Given the description of an element on the screen output the (x, y) to click on. 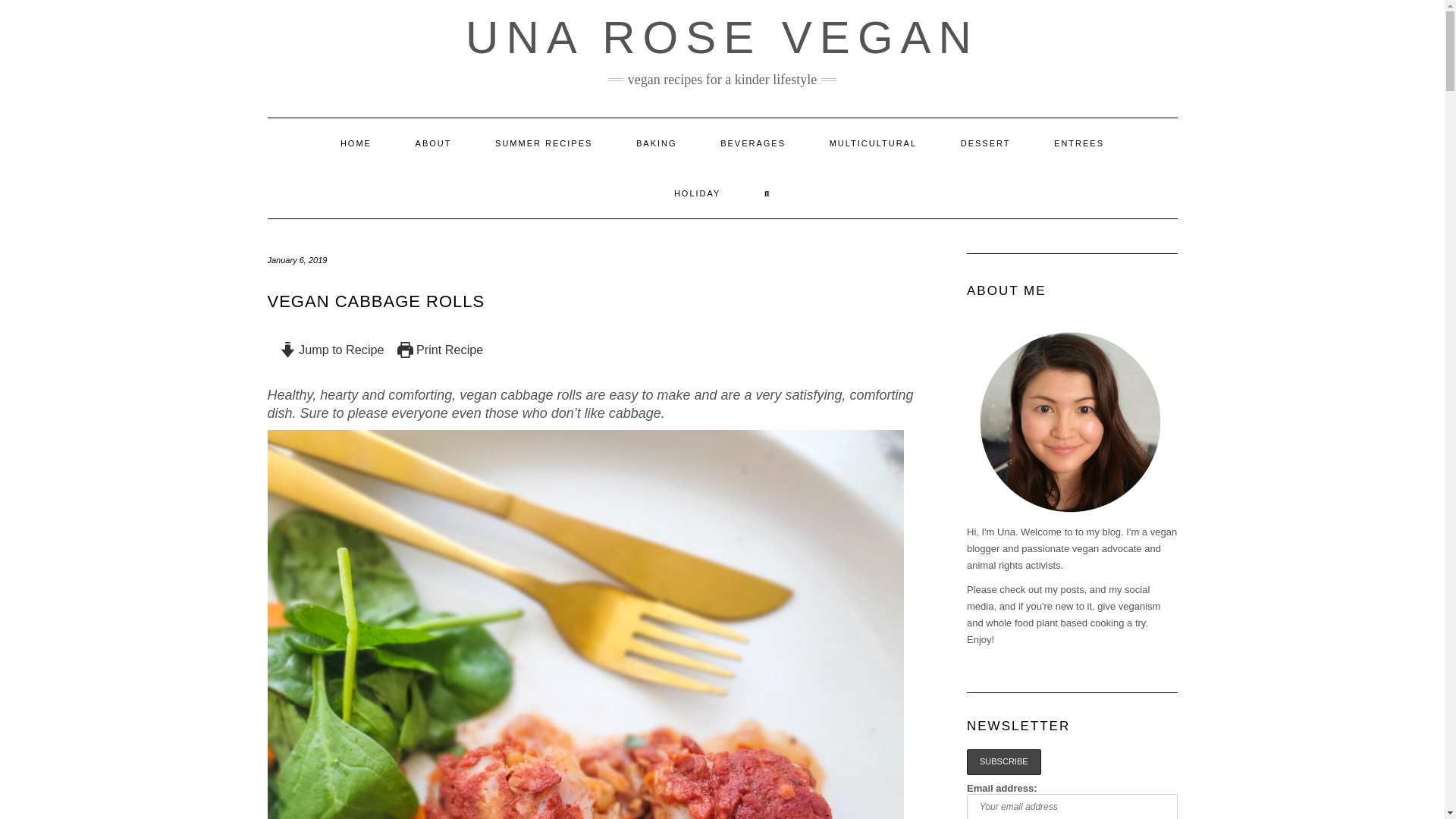
BEVERAGES (753, 142)
SUMMER RECIPES (543, 142)
ABOUT (432, 142)
SEARCH HERE (767, 193)
Jump to Recipe (331, 349)
UNA ROSE VEGAN (721, 37)
BAKING (656, 142)
DESSERT (985, 142)
ENTREES (1078, 142)
Subscribe (1003, 761)
Print Recipe (440, 349)
HOLIDAY (697, 193)
HOME (355, 142)
Subscribe (1003, 761)
MULTICULTURAL (873, 142)
